Given the description of an element on the screen output the (x, y) to click on. 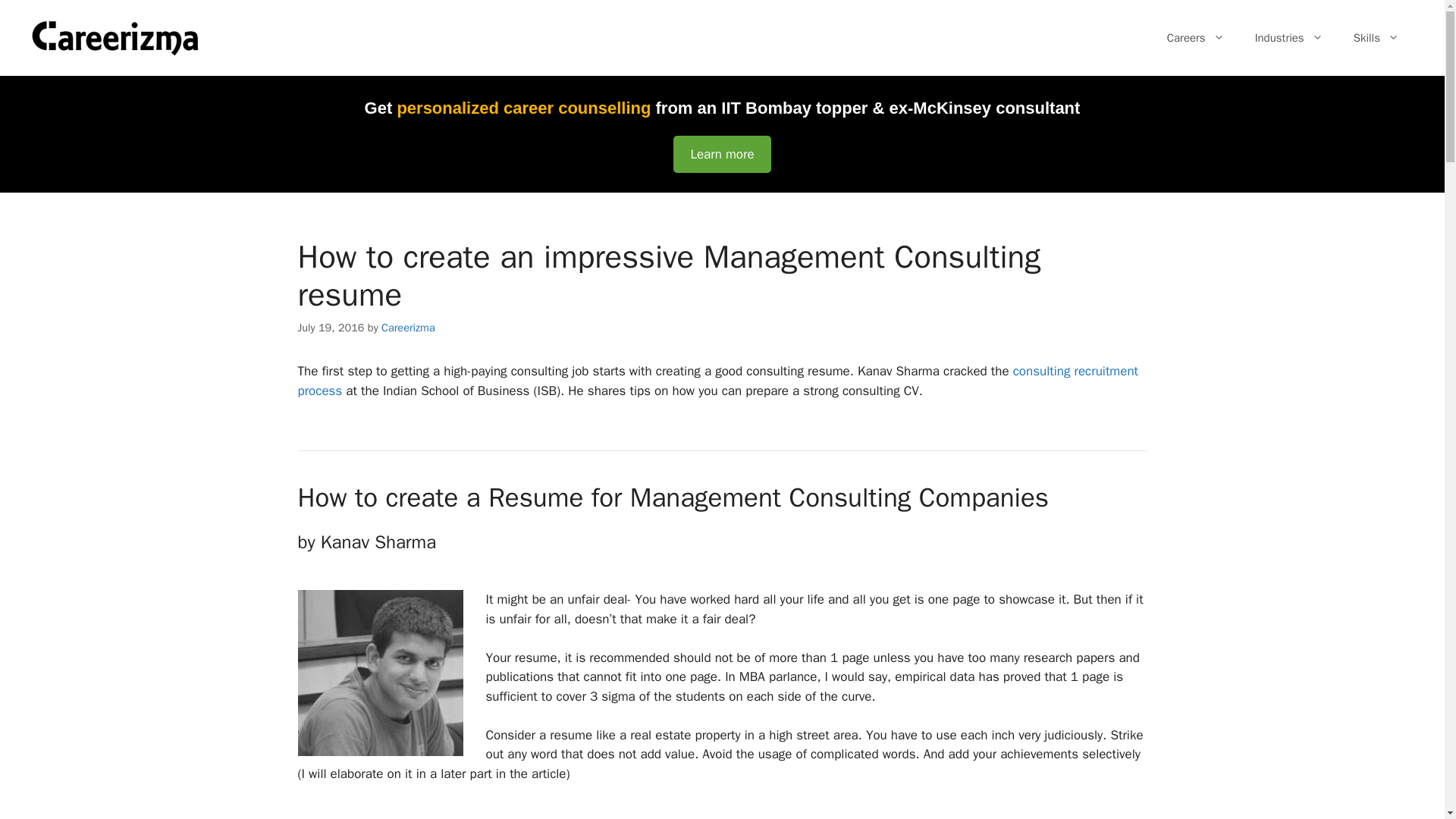
Skills (1375, 37)
Careers (1195, 37)
View all posts by Careerizma (408, 326)
Industries (1289, 37)
